Given the description of an element on the screen output the (x, y) to click on. 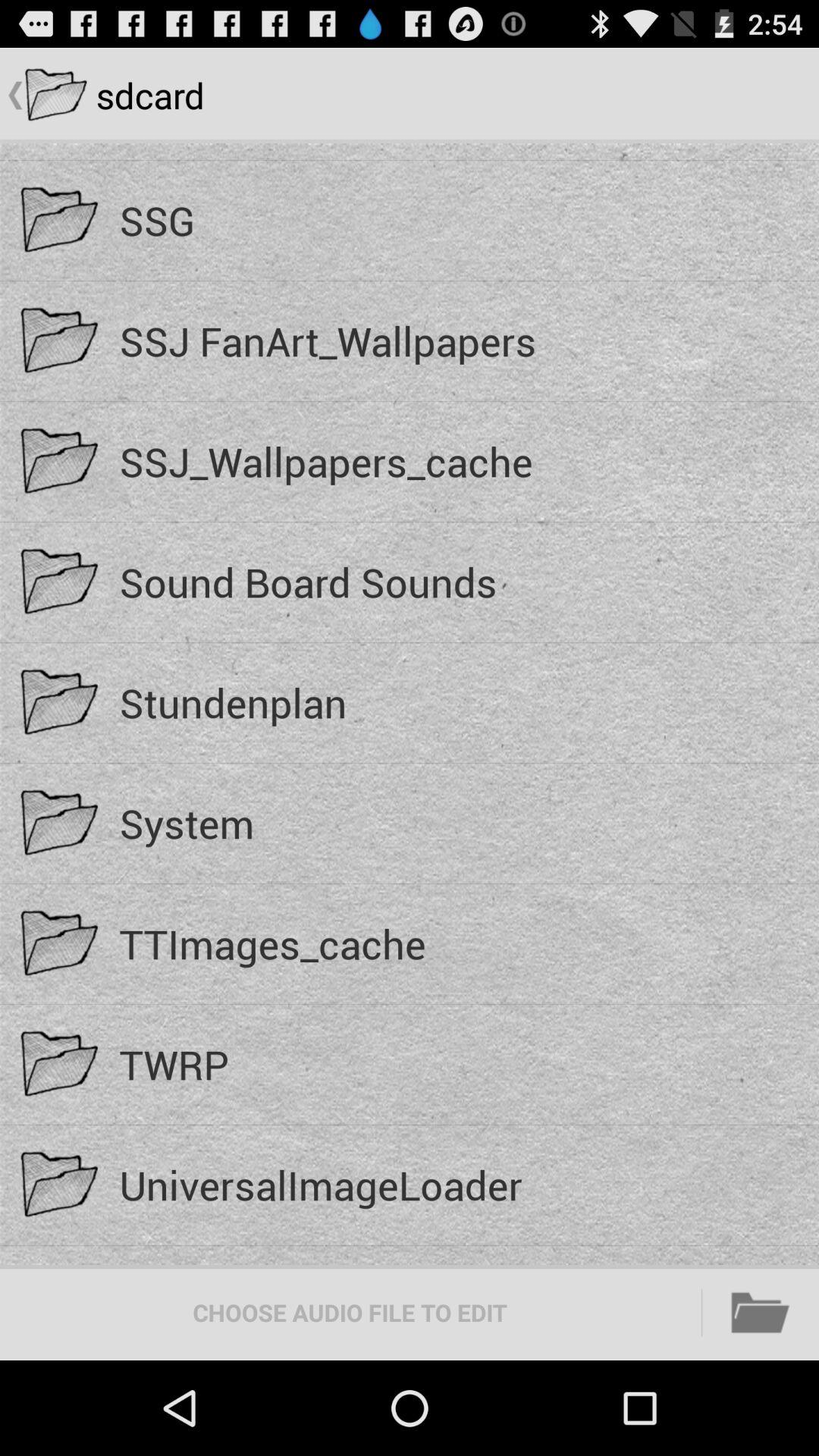
scroll to choose audio file (349, 1312)
